Given the description of an element on the screen output the (x, y) to click on. 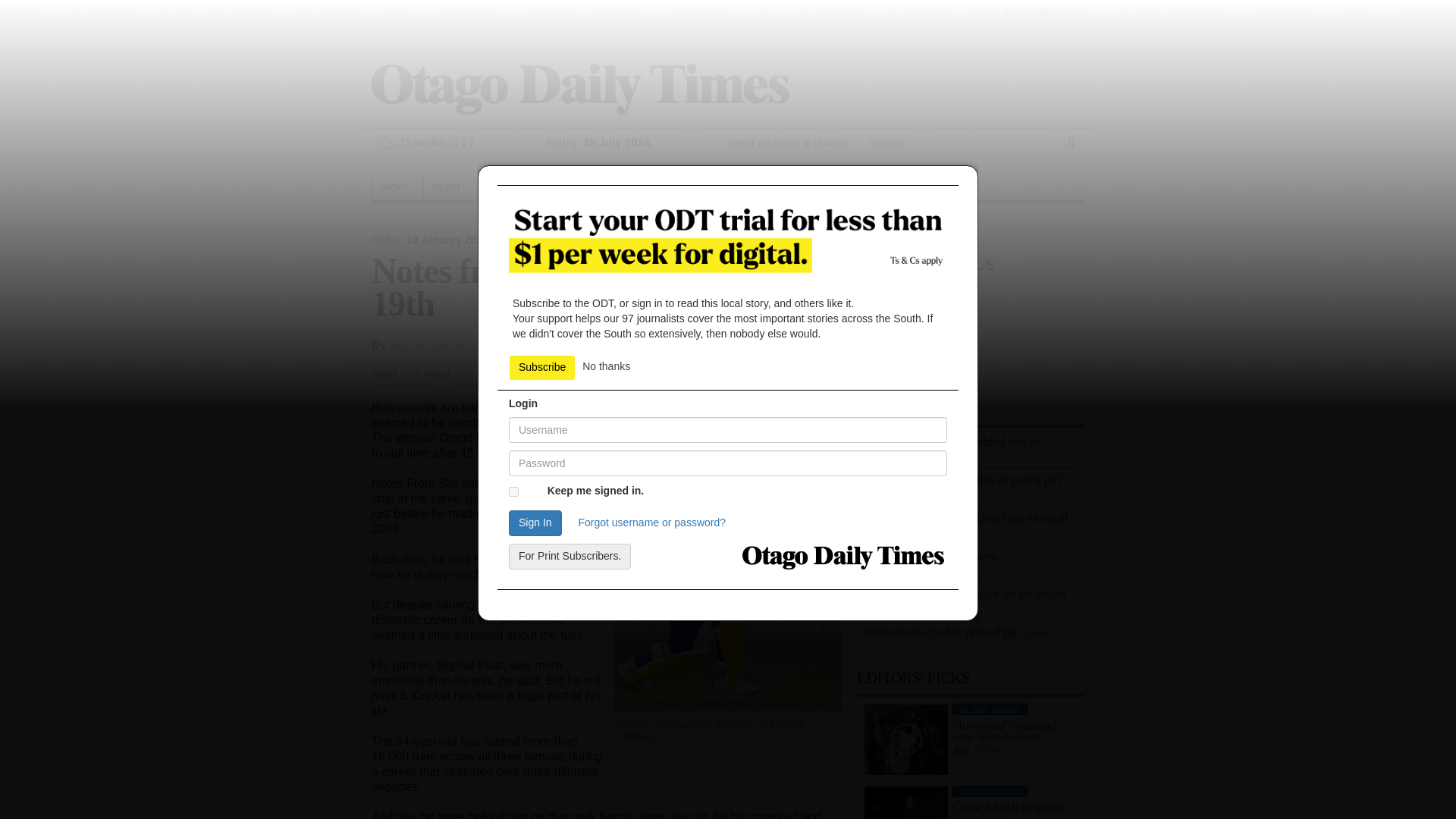
Sport (449, 188)
Twitter (805, 339)
Search (886, 161)
ShareThis (835, 339)
Subscribe (1028, 11)
Facebook (757, 339)
Enter the terms you wish to search for. (957, 143)
Home (580, 87)
News (396, 188)
Partly cloudy (382, 141)
